Given the description of an element on the screen output the (x, y) to click on. 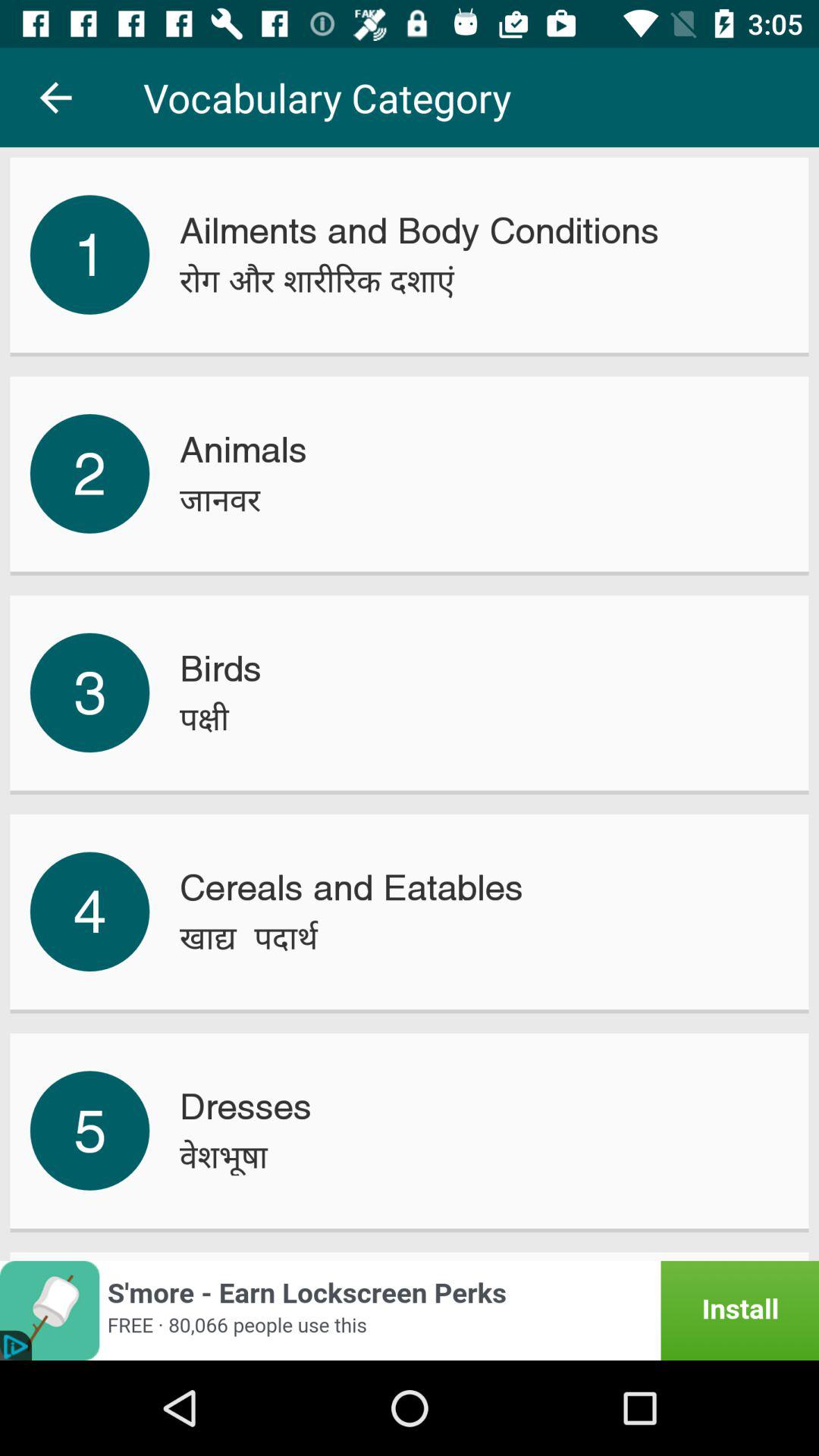
install the app (409, 1310)
